Given the description of an element on the screen output the (x, y) to click on. 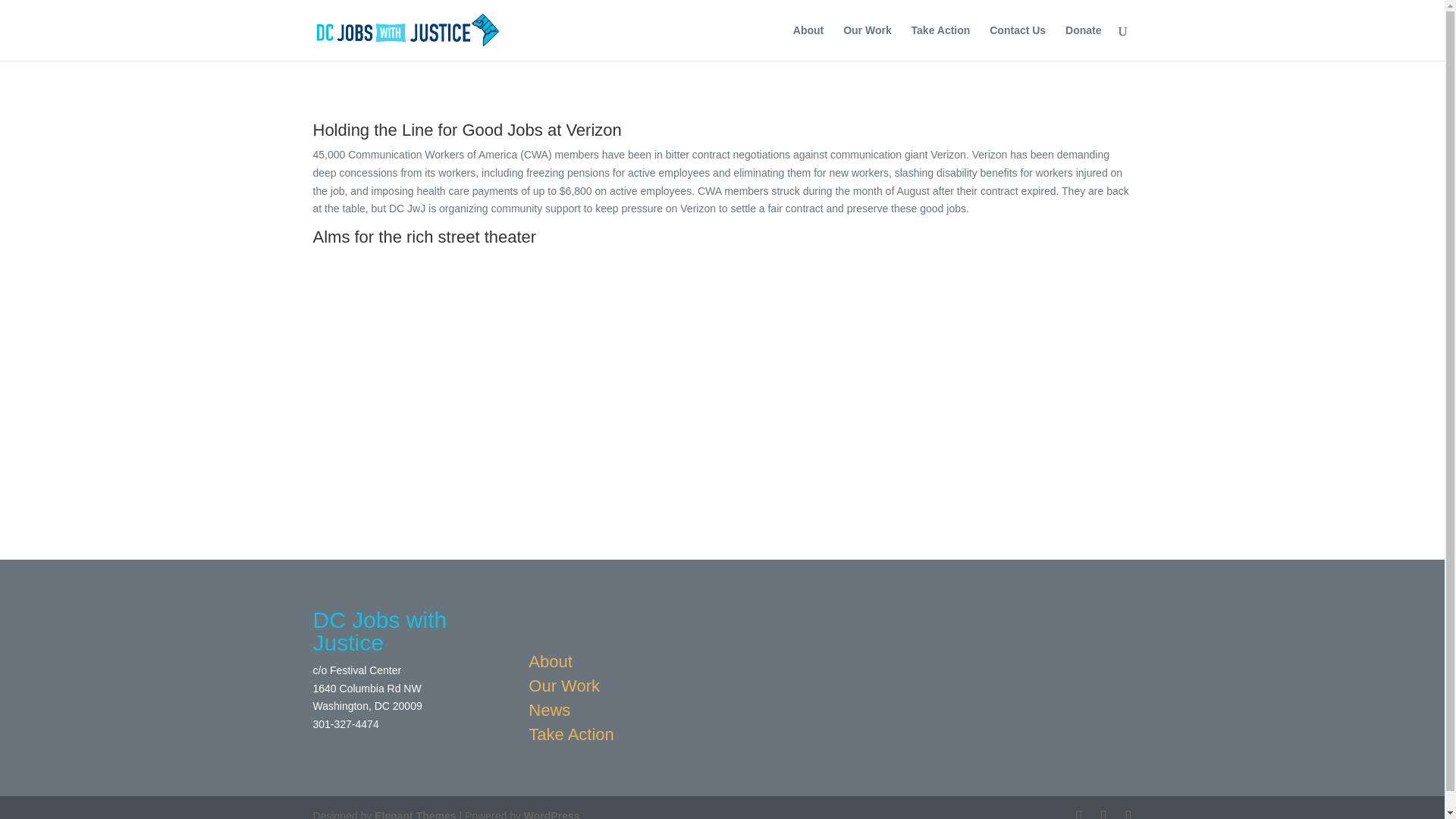
Premium WordPress Themes (414, 814)
Donate (1082, 42)
About (571, 665)
News (571, 713)
Elegant Themes (414, 814)
Take Action (571, 738)
WordPress (551, 814)
Take Action (941, 42)
Contact Us (1017, 42)
Our Work (867, 42)
